Given the description of an element on the screen output the (x, y) to click on. 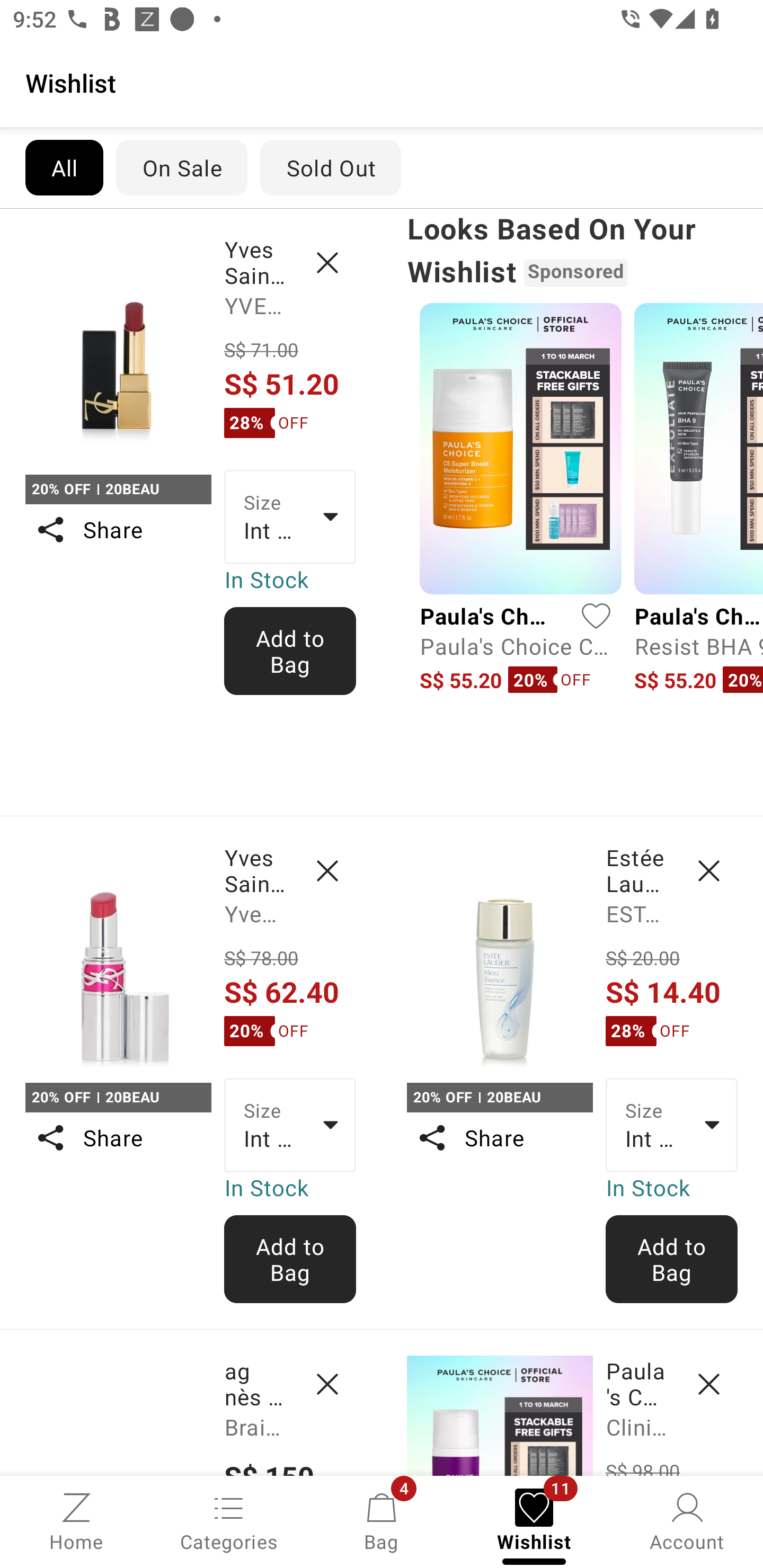
Wishlist (381, 82)
All (64, 167)
On Sale (181, 167)
Sold Out (330, 167)
Size Int One Size (290, 517)
Share (118, 529)
Add to Bag (290, 650)
Size Int One Size (290, 1125)
Size Int One Size (671, 1125)
Share (118, 1137)
Share (499, 1137)
Add to Bag (290, 1259)
Add to Bag (671, 1259)
Home (76, 1519)
Categories (228, 1519)
Bag, 4 new notifications Bag (381, 1519)
Account (686, 1519)
